Given the description of an element on the screen output the (x, y) to click on. 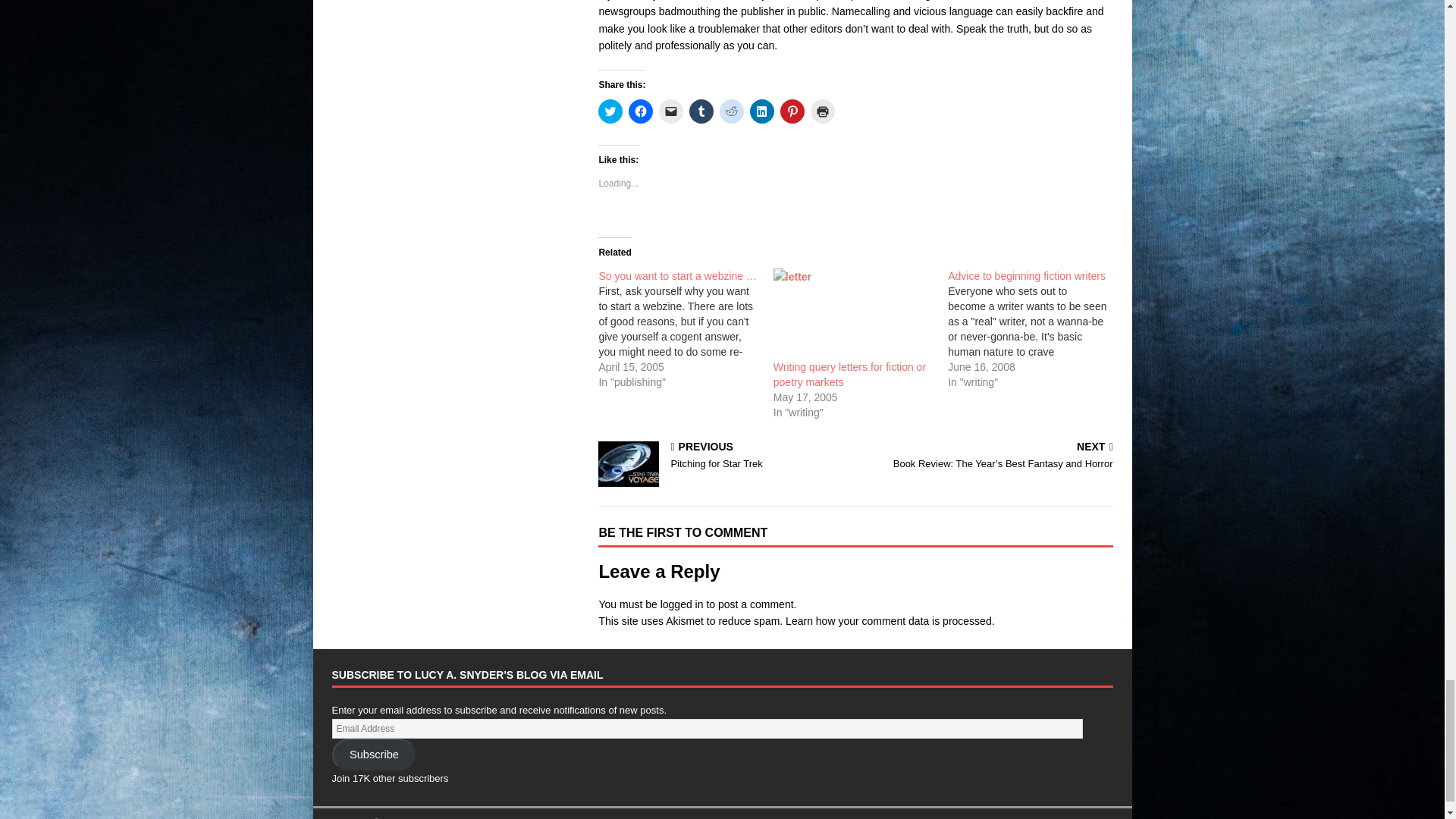
Click to share on Pinterest (792, 111)
Click to email a link to a friend (670, 111)
Click to print (822, 111)
Click to share on LinkedIn (761, 111)
Click to share on Twitter (610, 111)
Click to share on Tumblr (700, 111)
Click to share on Facebook (640, 111)
Click to share on Reddit (731, 111)
